Given the description of an element on the screen output the (x, y) to click on. 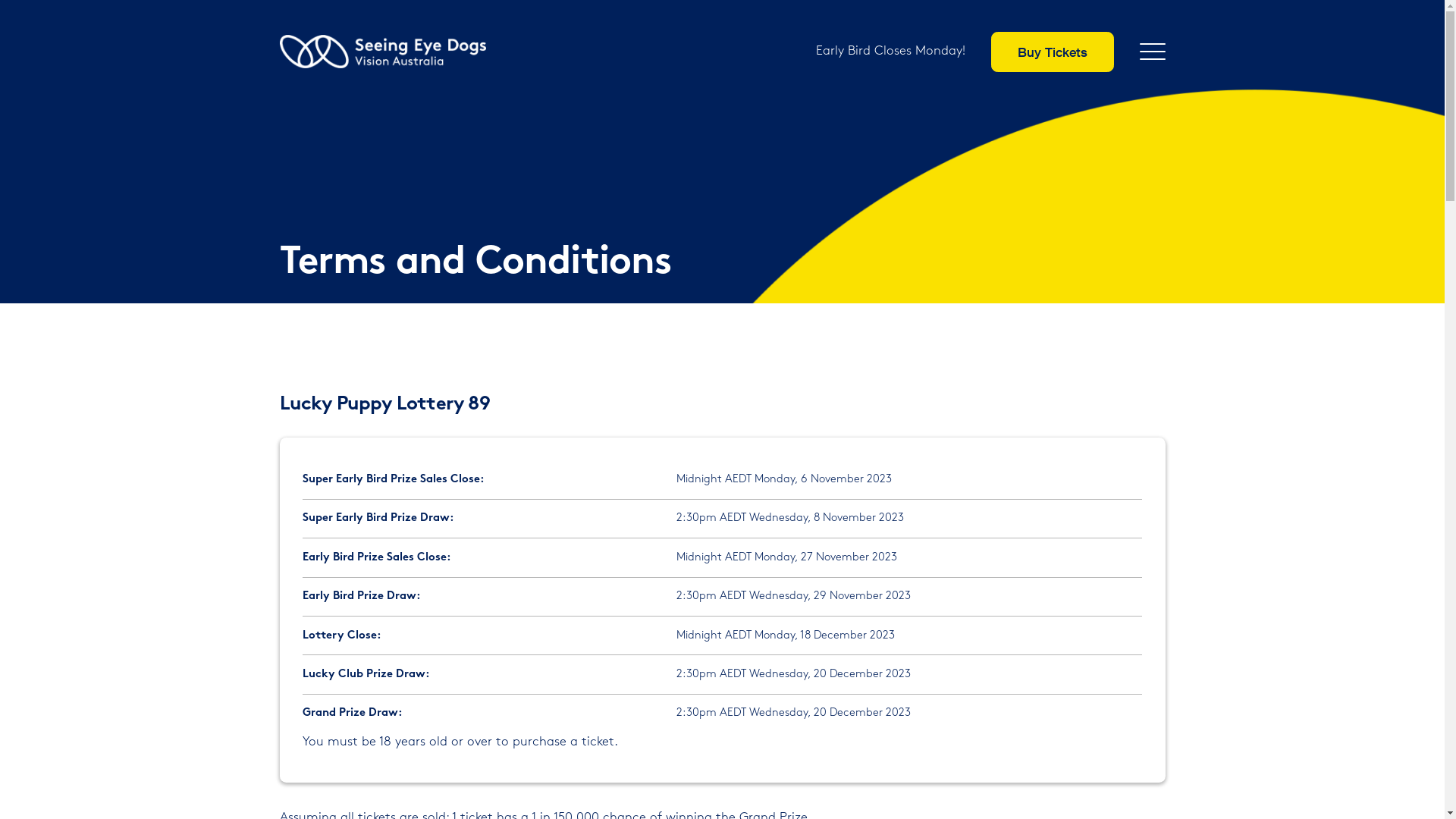
Buy Tickets Element type: text (1051, 51)
